Given the description of an element on the screen output the (x, y) to click on. 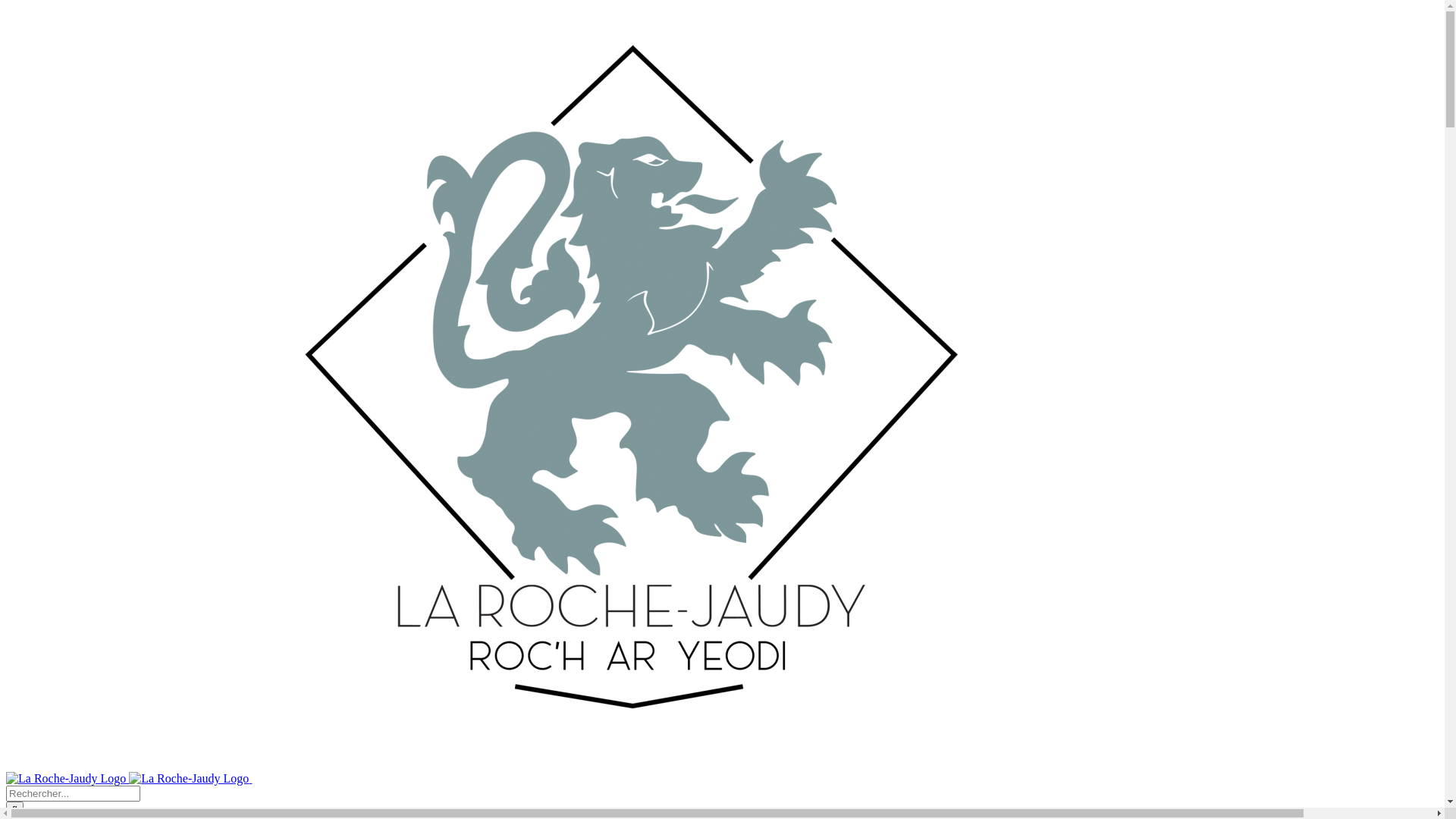
Passer au contenu Element type: text (5, 5)
